Given the description of an element on the screen output the (x, y) to click on. 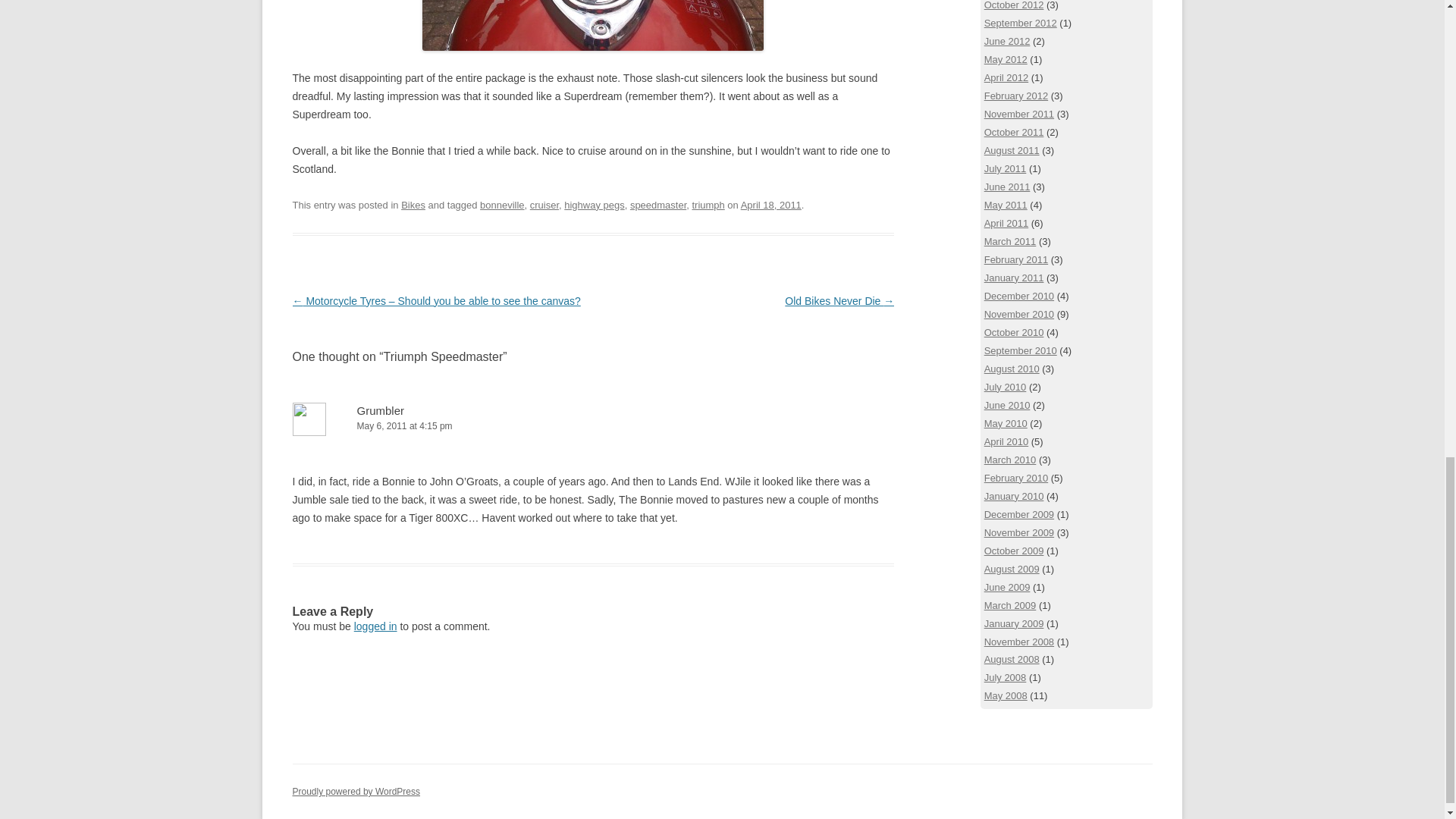
7:22 pm (771, 204)
triumph (707, 204)
April 18, 2011 (771, 204)
Semantic Personal Publishing Platform (356, 791)
speedmaster (657, 204)
Bikes (413, 204)
cruiser (544, 204)
highway pegs (594, 204)
Steve on the Speedmaster Apr11b Pilots View (592, 25)
bonneville (502, 204)
